Given the description of an element on the screen output the (x, y) to click on. 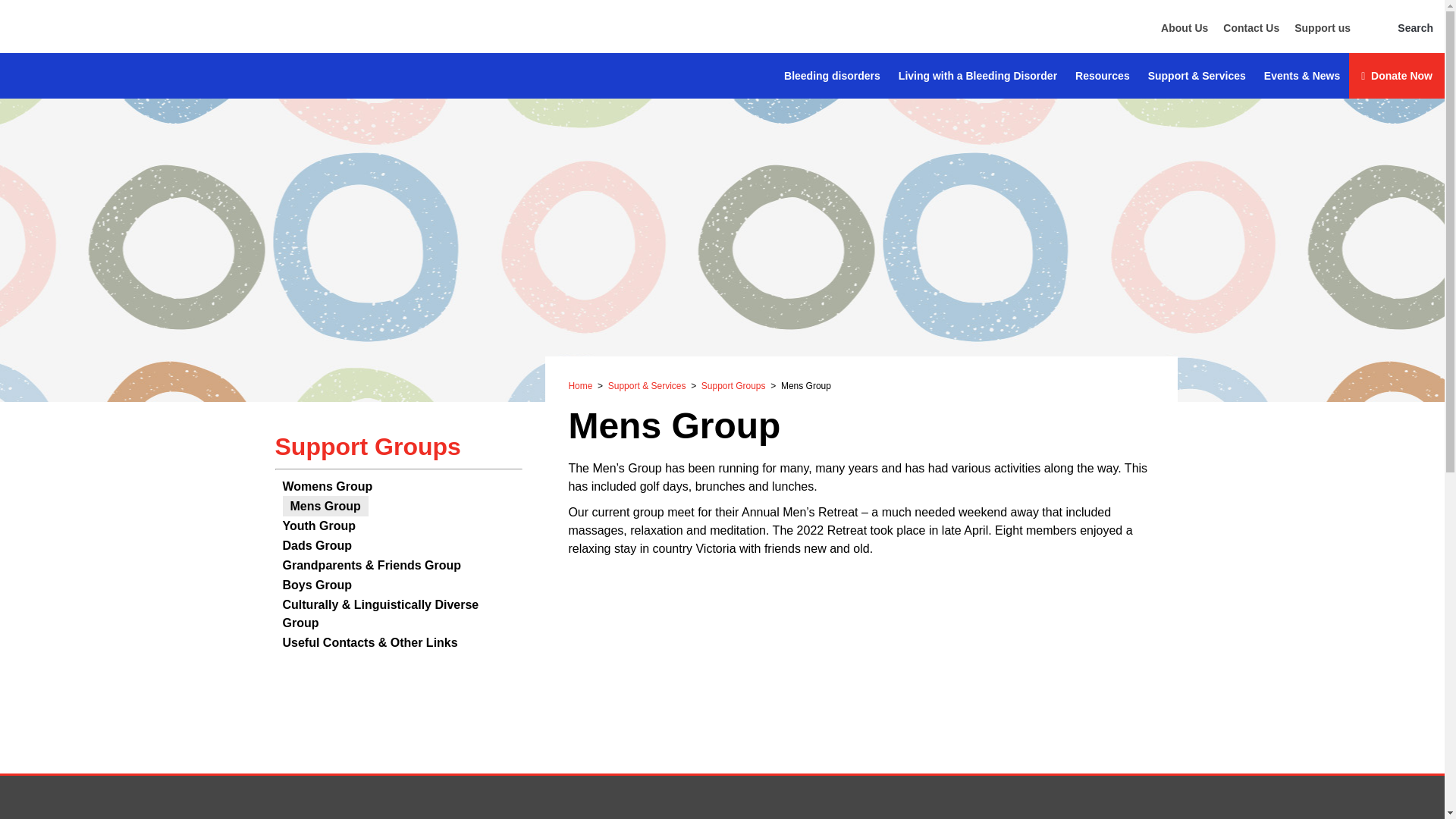
Living with a Bleeding Disorder (977, 75)
Resources (1101, 75)
About Us (1184, 28)
Bleeding disorders (831, 75)
Support us (1322, 28)
Contact Us (1251, 28)
